Given the description of an element on the screen output the (x, y) to click on. 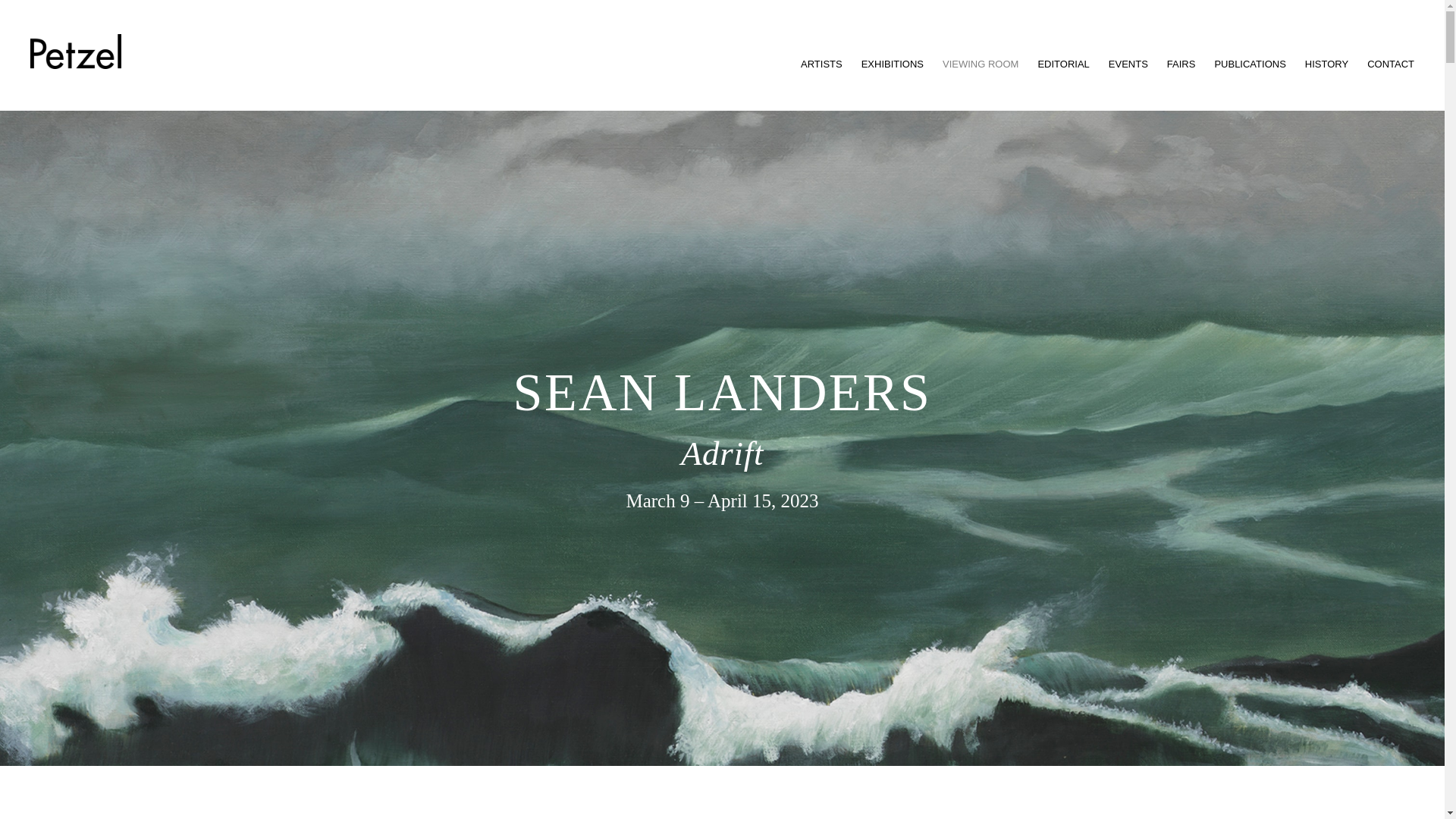
CONTACT (1390, 63)
EVENTS (1128, 63)
ARTISTS (821, 63)
EXHIBITIONS (892, 63)
VIEWING ROOM (979, 63)
FAIRS (1181, 63)
EDITORIAL (1062, 63)
HISTORY (1326, 63)
PUBLICATIONS (1249, 63)
